Given the description of an element on the screen output the (x, y) to click on. 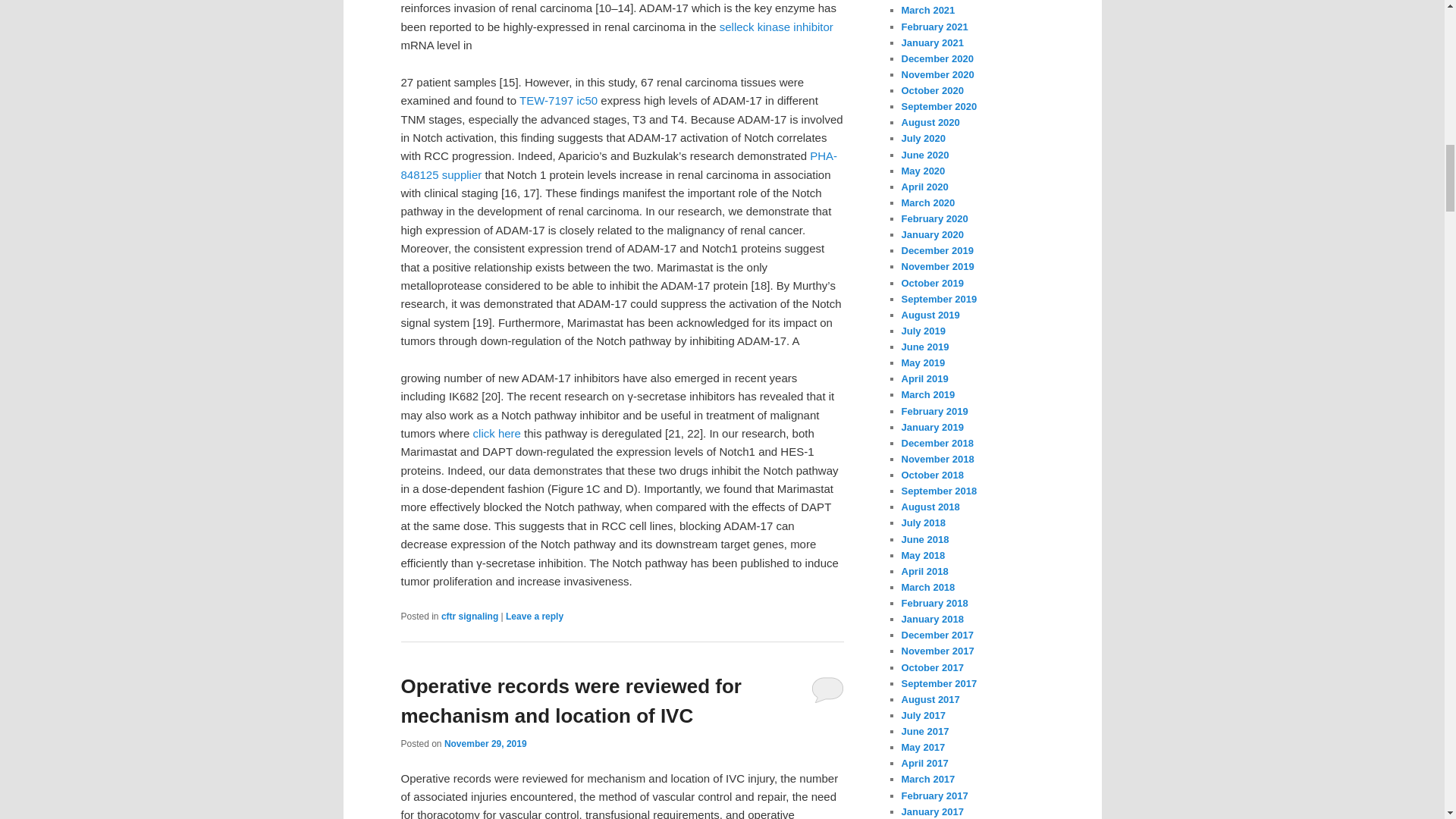
cftr signaling (469, 615)
View all posts in cftr signaling (469, 615)
November 29, 2019 (485, 743)
Leave a reply (534, 615)
PHA-848125 supplier (618, 164)
TEW-7197 ic50 (557, 100)
selleck kinase inhibitor (775, 26)
click here (497, 432)
